Given the description of an element on the screen output the (x, y) to click on. 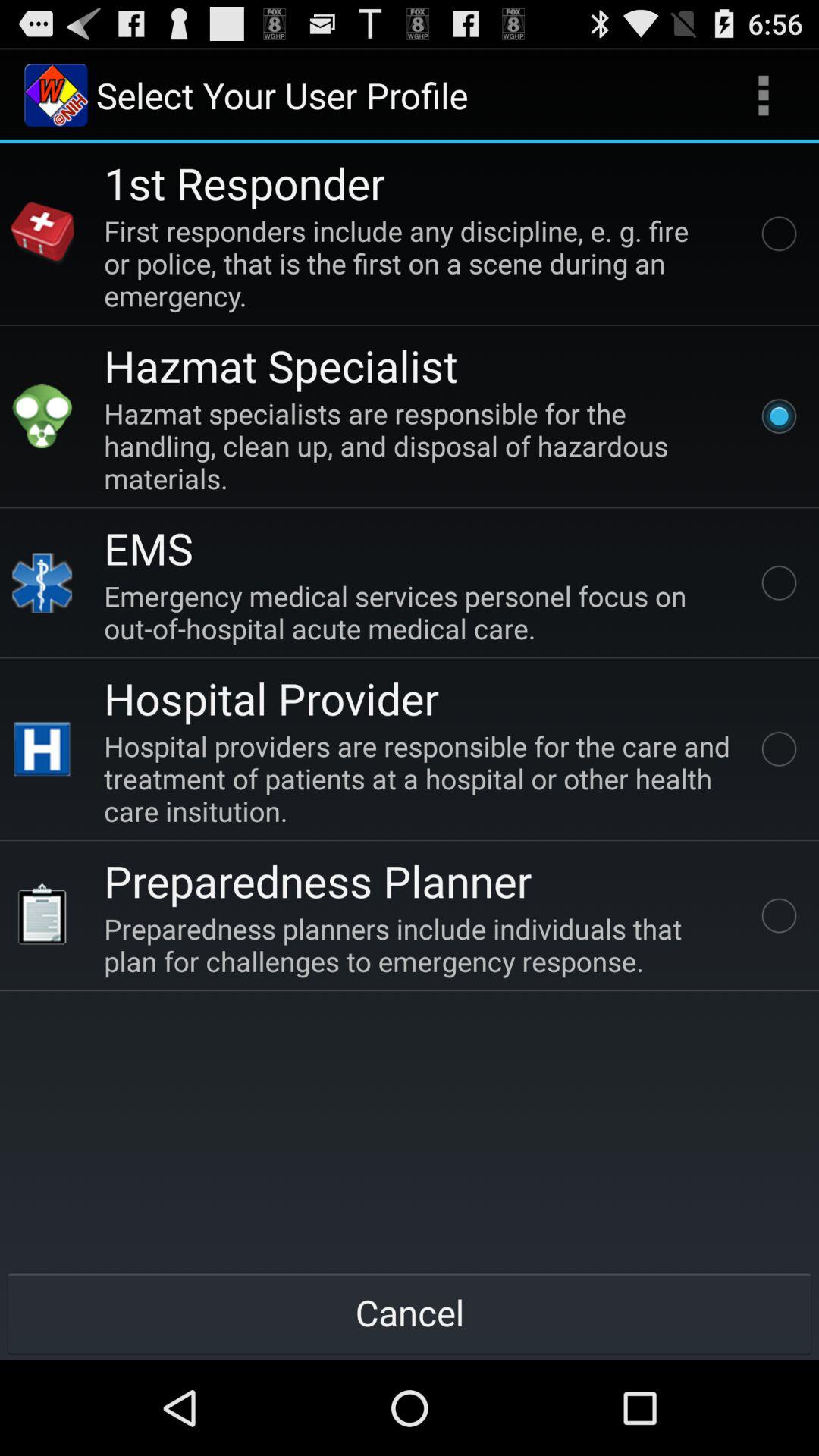
launch the app above hospital providers are icon (271, 697)
